Given the description of an element on the screen output the (x, y) to click on. 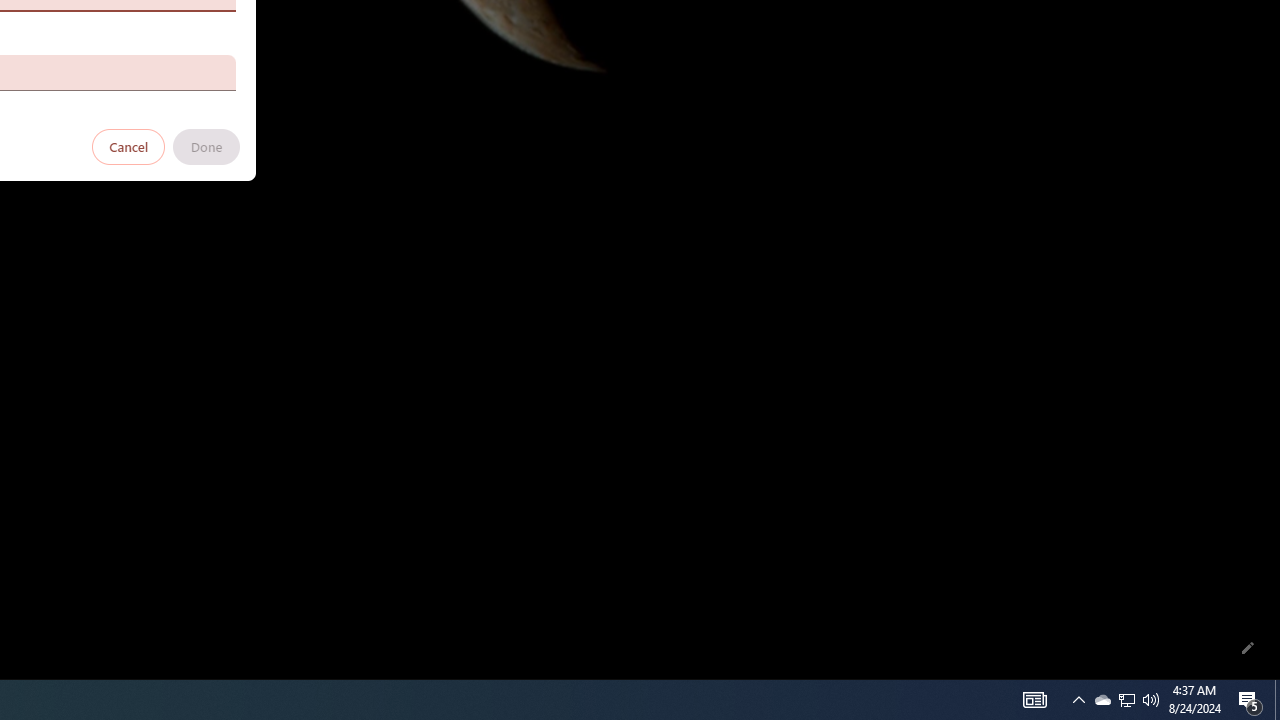
Done (206, 146)
Cancel (129, 146)
